Given the description of an element on the screen output the (x, y) to click on. 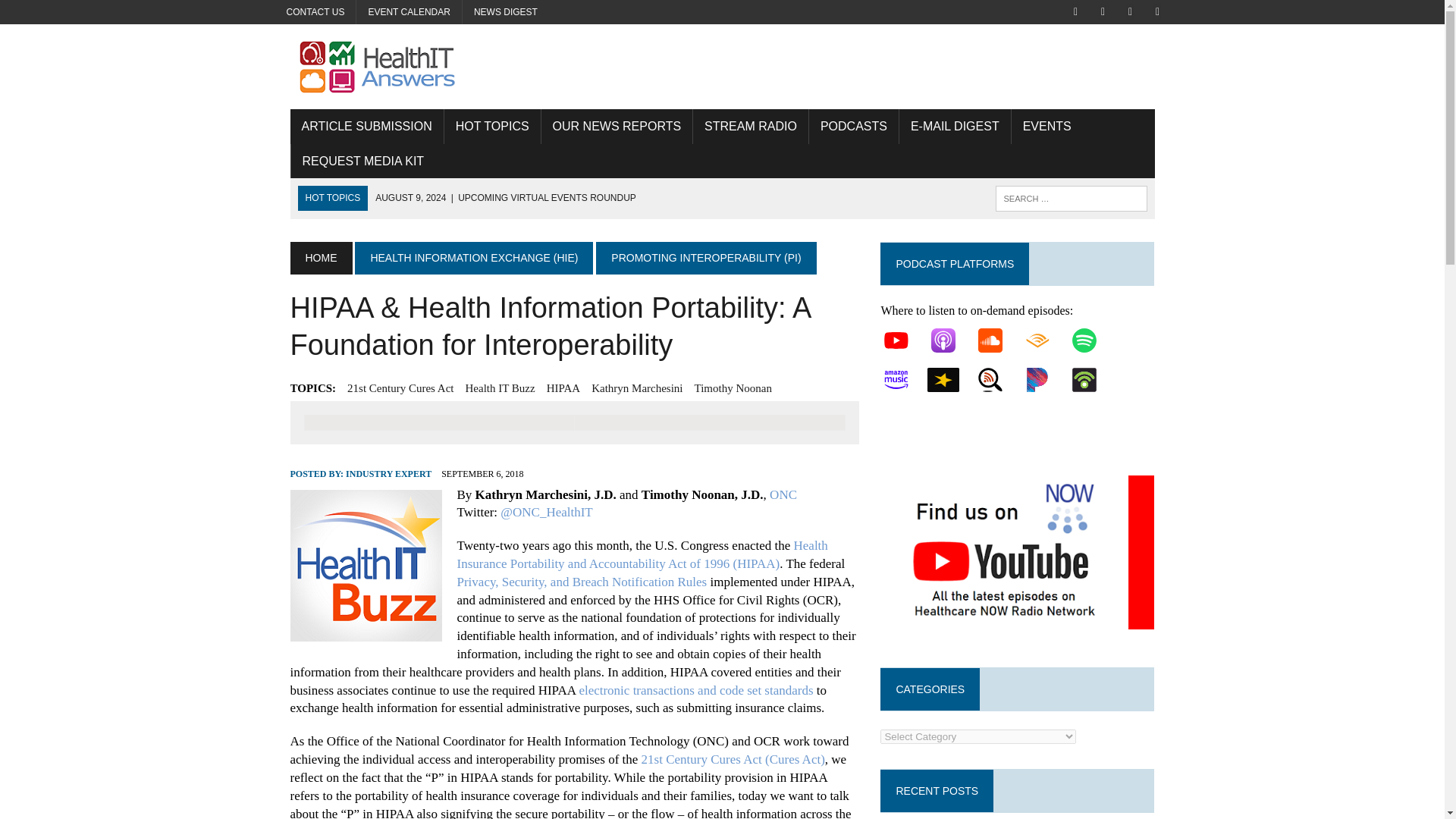
Audible (1045, 340)
ONC (783, 494)
REQUEST MEDIA KIT (363, 161)
Kathryn Marchesini (636, 388)
Health IT Buzz (499, 388)
Amazon-Music (903, 379)
E-MAIL DIGEST (954, 126)
EVENT CALENDAR (408, 12)
STREAM RADIO (750, 126)
HOME (320, 257)
